Given the description of an element on the screen output the (x, y) to click on. 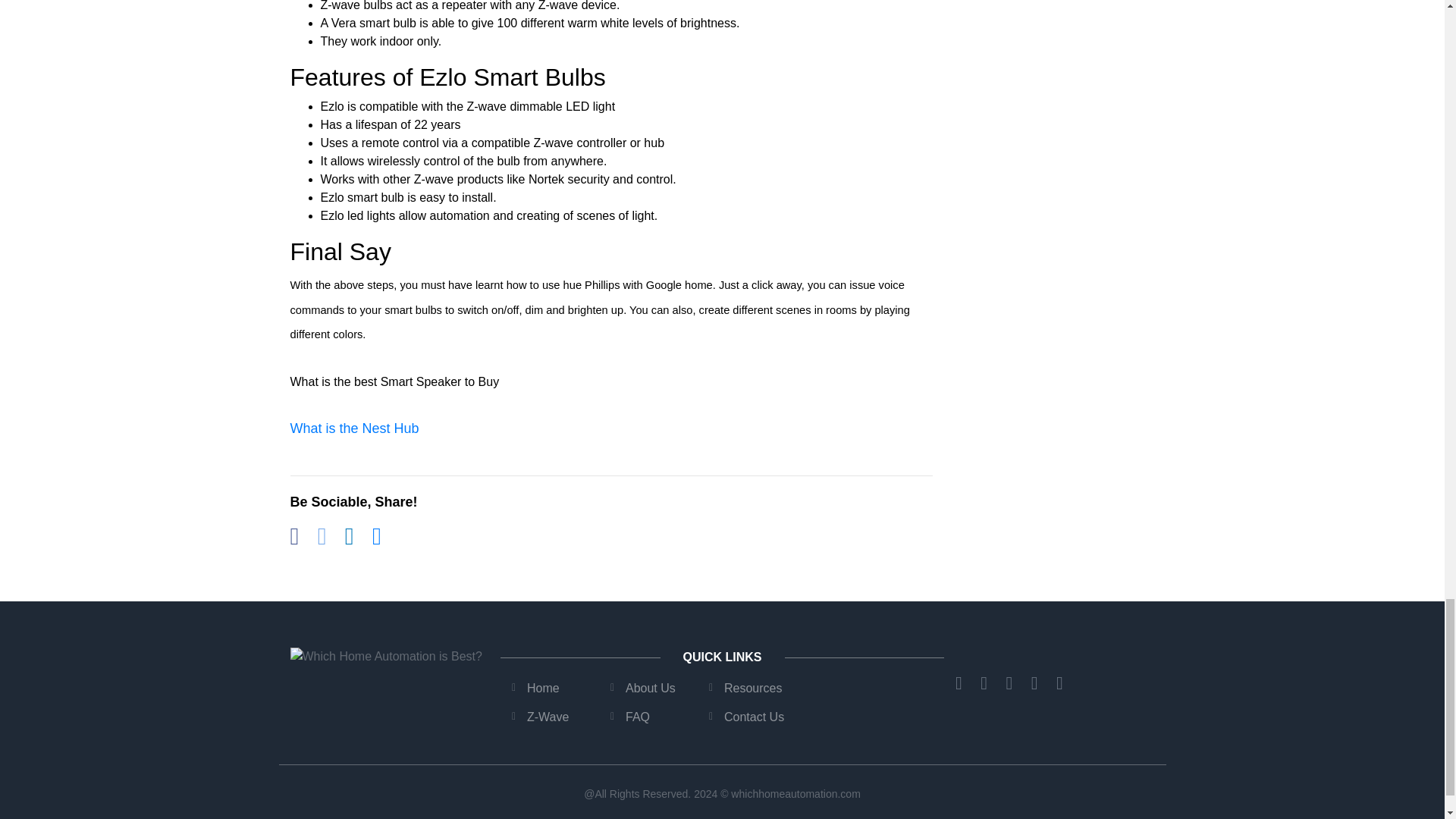
FAQ (637, 716)
Home (543, 687)
Z-Wave (548, 716)
Contact Us (753, 716)
What is the best Smart Speaker to Buy (394, 381)
About Us (650, 687)
Resources (752, 687)
What is the Nest Hub (354, 427)
